Given the description of an element on the screen output the (x, y) to click on. 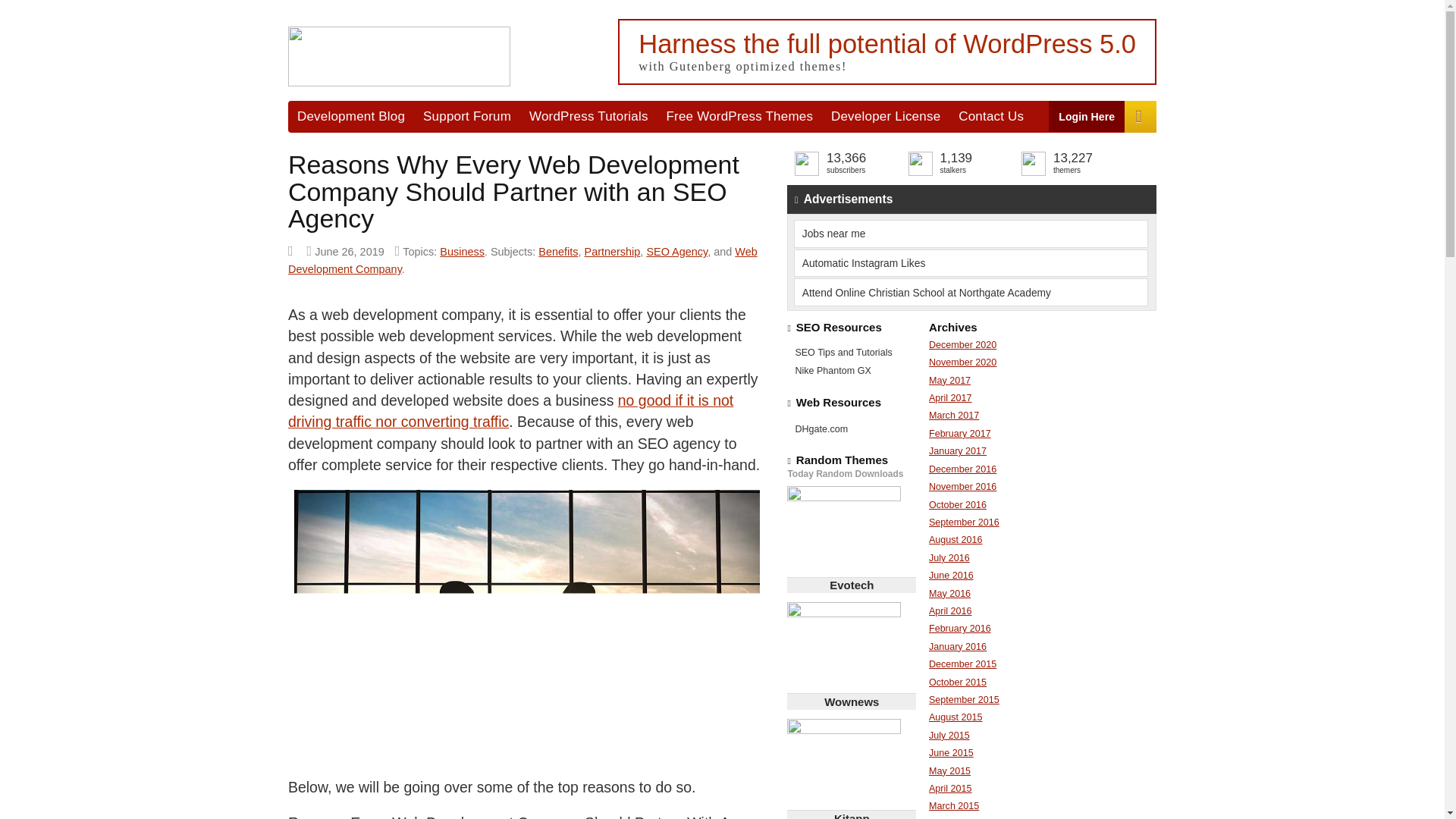
Purchase our developer license to remove theme credits (885, 115)
login to your account here (1086, 115)
no good if it is not driving traffic nor converting traffic (510, 410)
Free Responsive WordPress Themes (740, 115)
Partnership (612, 251)
Development Blog (350, 115)
Business (461, 251)
Login Here (1086, 115)
WordPress Tutorials (588, 115)
